Given the description of an element on the screen output the (x, y) to click on. 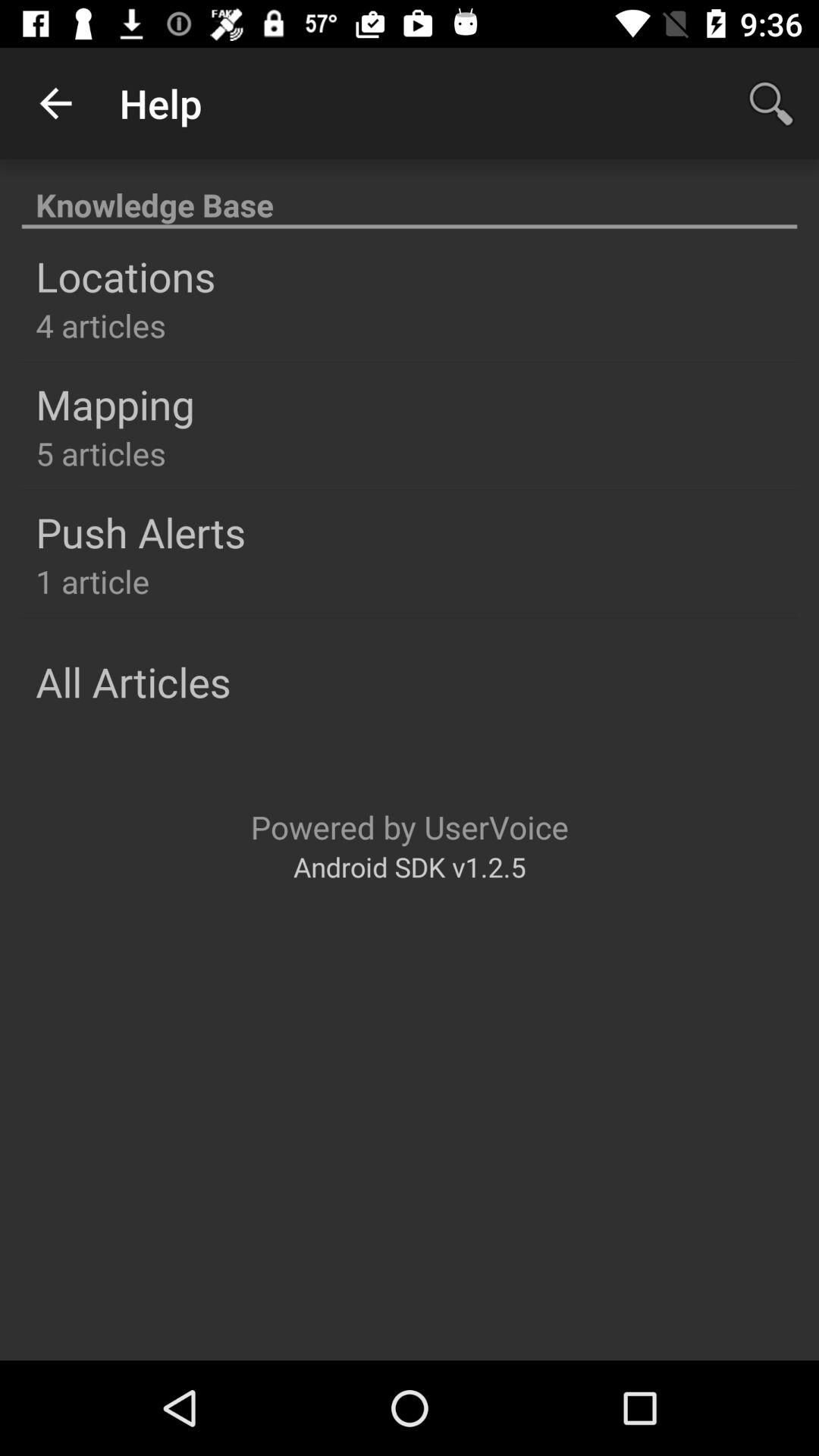
press item below the all articles item (409, 826)
